Given the description of an element on the screen output the (x, y) to click on. 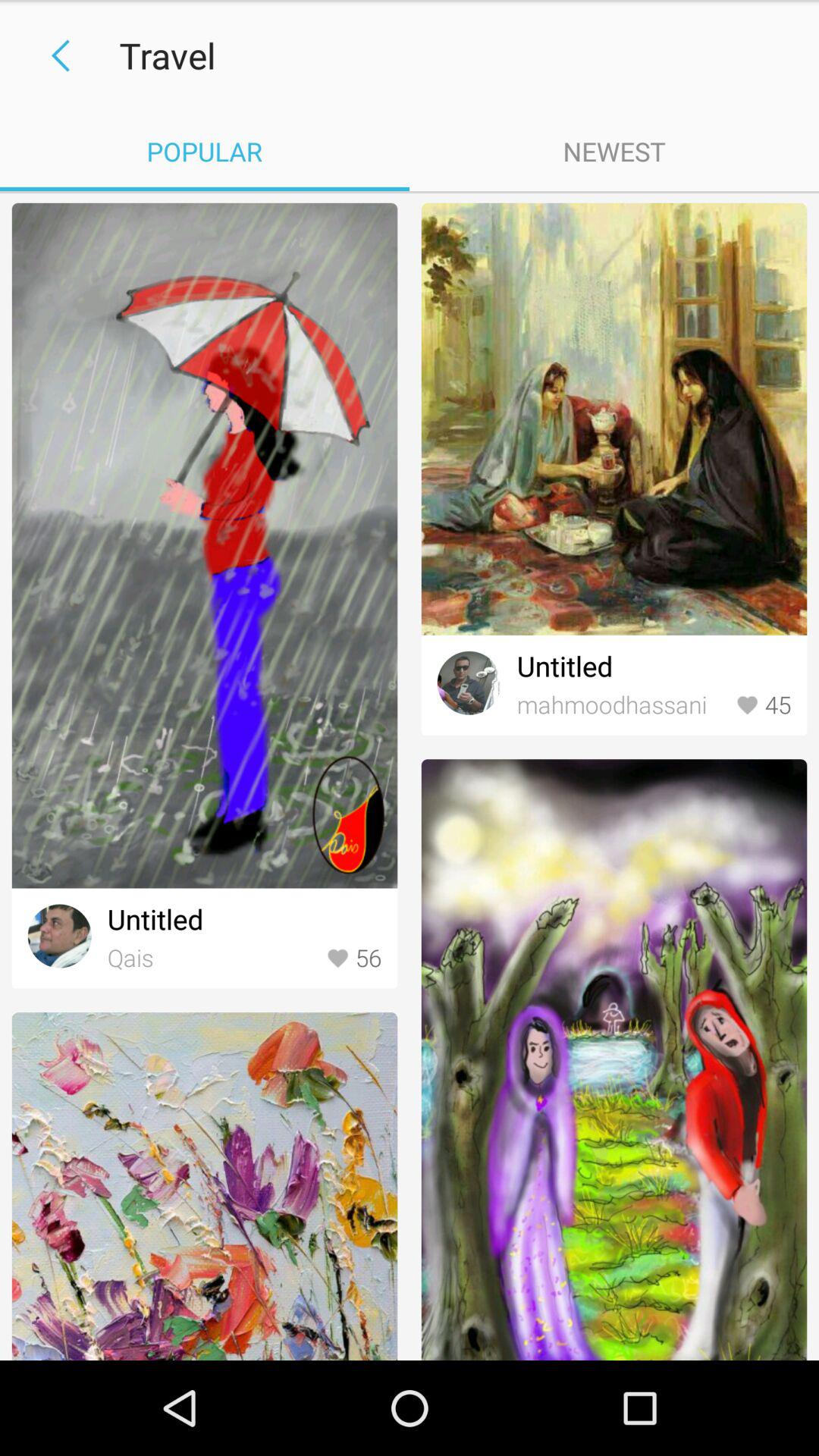
press icon next to qais item (353, 958)
